Given the description of an element on the screen output the (x, y) to click on. 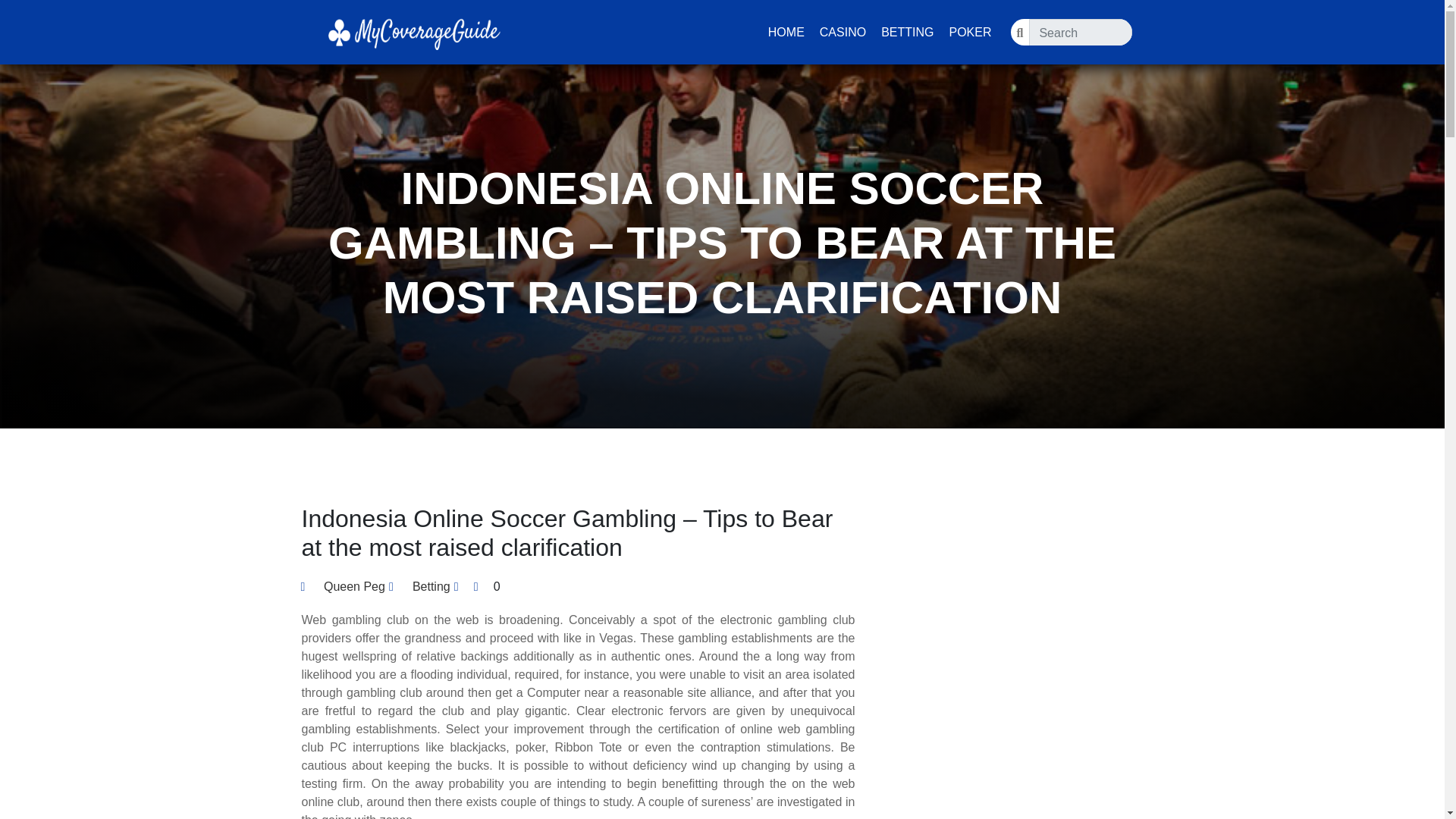
Queen Peg (342, 586)
Betting (431, 586)
